Given the description of an element on the screen output the (x, y) to click on. 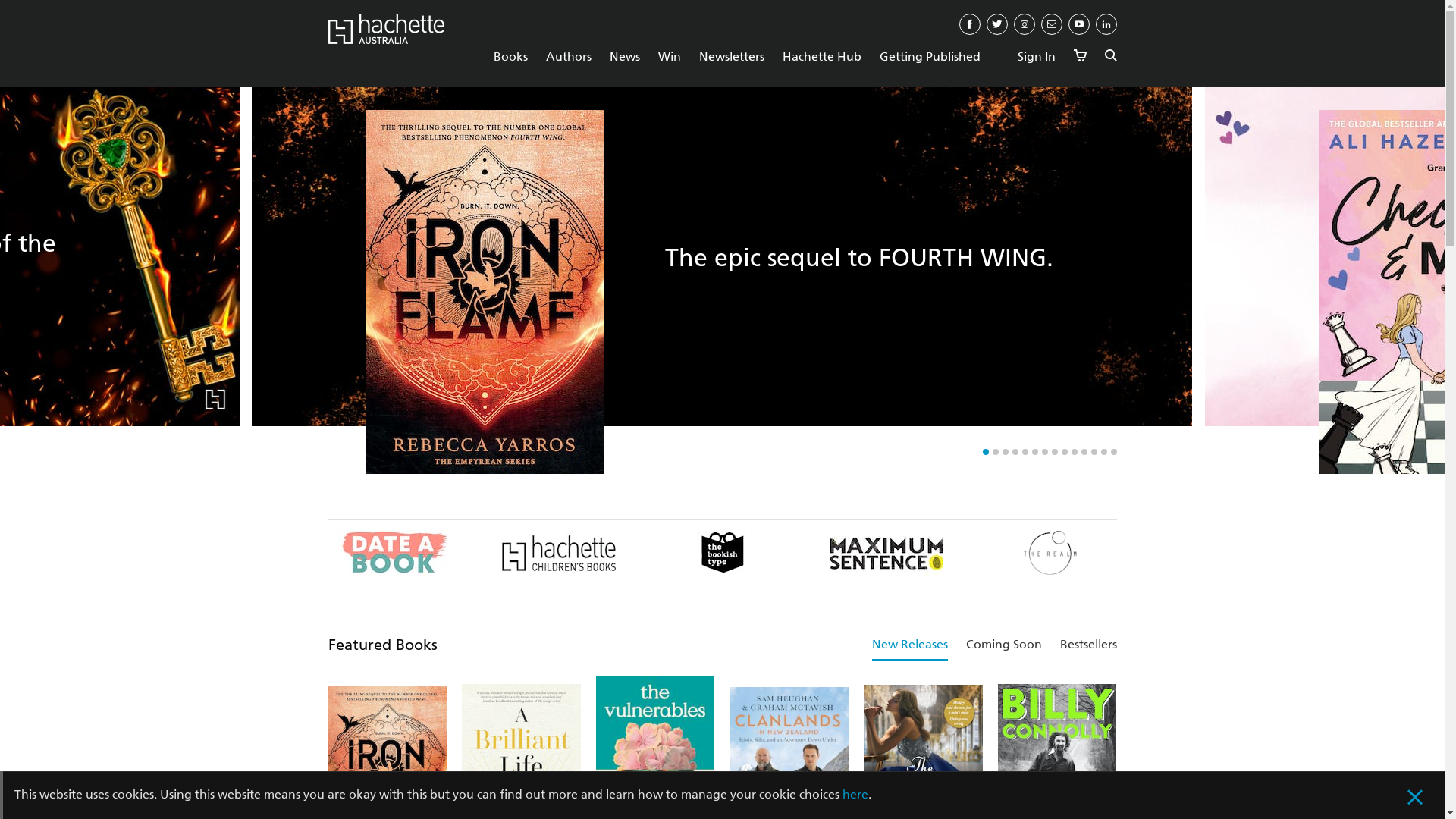
Instagram Element type: text (1023, 23)
Coming Soon Element type: text (1003, 645)
Search Element type: text (1110, 56)
The epic sequel to FOURTH WING. Element type: text (859, 257)
Facebook Element type: text (968, 23)
Books Element type: text (509, 56)
View Cart Element type: text (1079, 56)
Twitter Element type: text (996, 23)
Linkedin Element type: text (1105, 23)
Getting Published Element type: text (929, 56)
News Element type: text (624, 56)
Win Element type: text (669, 56)
Email Element type: text (1050, 23)
Sign In Element type: text (1036, 56)
Newsletters Element type: text (731, 56)
Bestsellers Element type: text (1088, 645)
Close cookie policy overlay Element type: text (1424, 798)
here Element type: text (855, 794)
New Releases Element type: text (909, 645)
Hachette Hub Element type: text (821, 56)
YouTube Element type: text (1077, 23)
Authors Element type: text (568, 56)
